Given the description of an element on the screen output the (x, y) to click on. 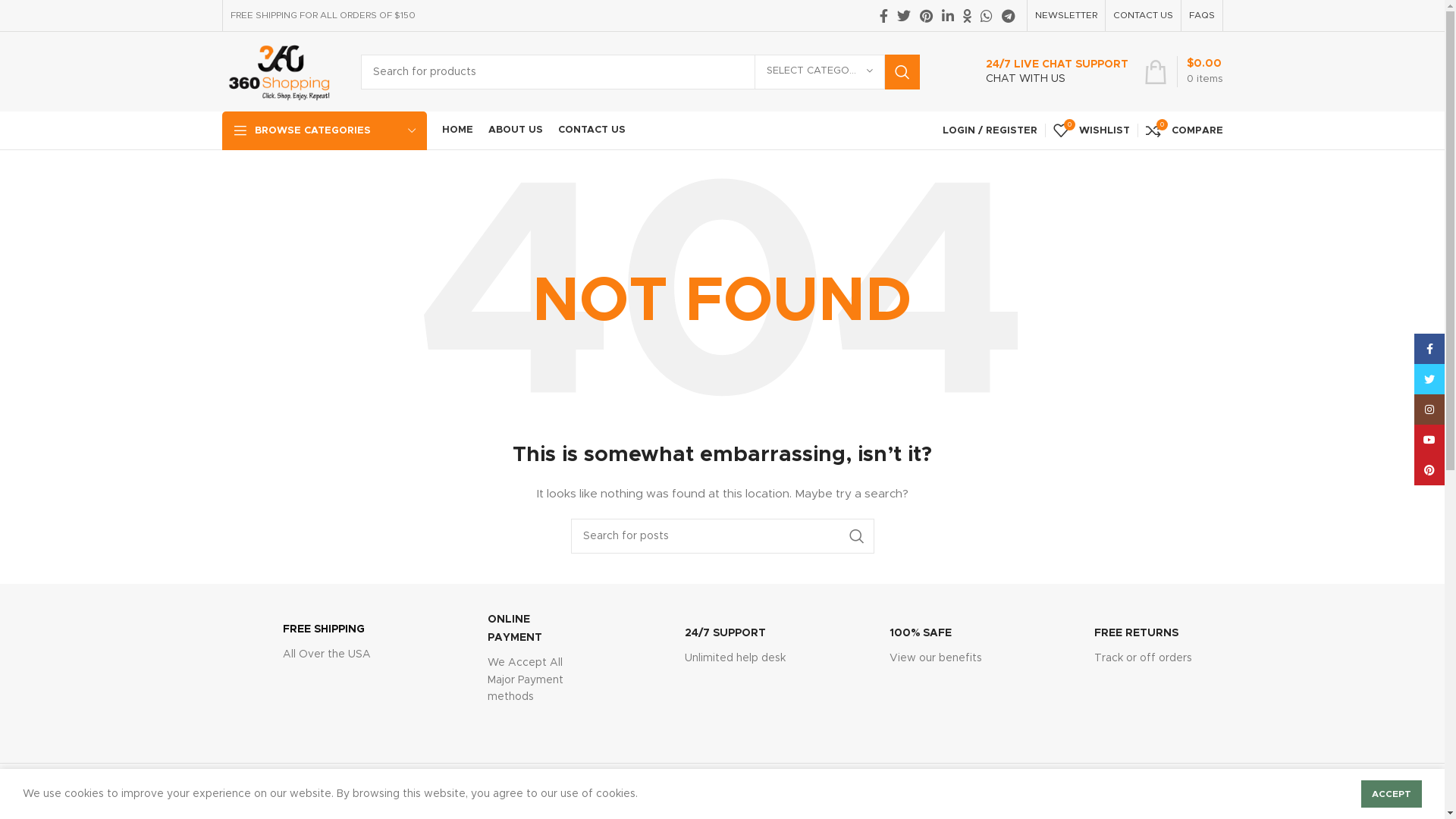
SEARCH Element type: text (901, 71)
SEARCH Element type: text (855, 535)
ABOUT US Element type: text (515, 130)
0 items
$0.00 Element type: text (1182, 71)
0
WISHLIST Element type: text (1090, 130)
HOME Element type: text (456, 130)
Search for posts Element type: hover (721, 535)
LOGIN / REGISTER Element type: text (989, 130)
SELECT CATEGORY Element type: text (818, 70)
CONTACT US Element type: text (1143, 15)
Search for products Element type: hover (639, 71)
CONTACT US Element type: text (591, 130)
24/7 LIVE CHAT SUPPORT
CHAT WITH US Element type: text (1040, 71)
CHAT WITH US Element type: text (1025, 78)
ACCEPT Element type: text (1391, 793)
0
COMPARE Element type: text (1183, 130)
NEWSLETTER Element type: text (1065, 15)
FAQS Element type: text (1201, 15)
